Given the description of an element on the screen output the (x, y) to click on. 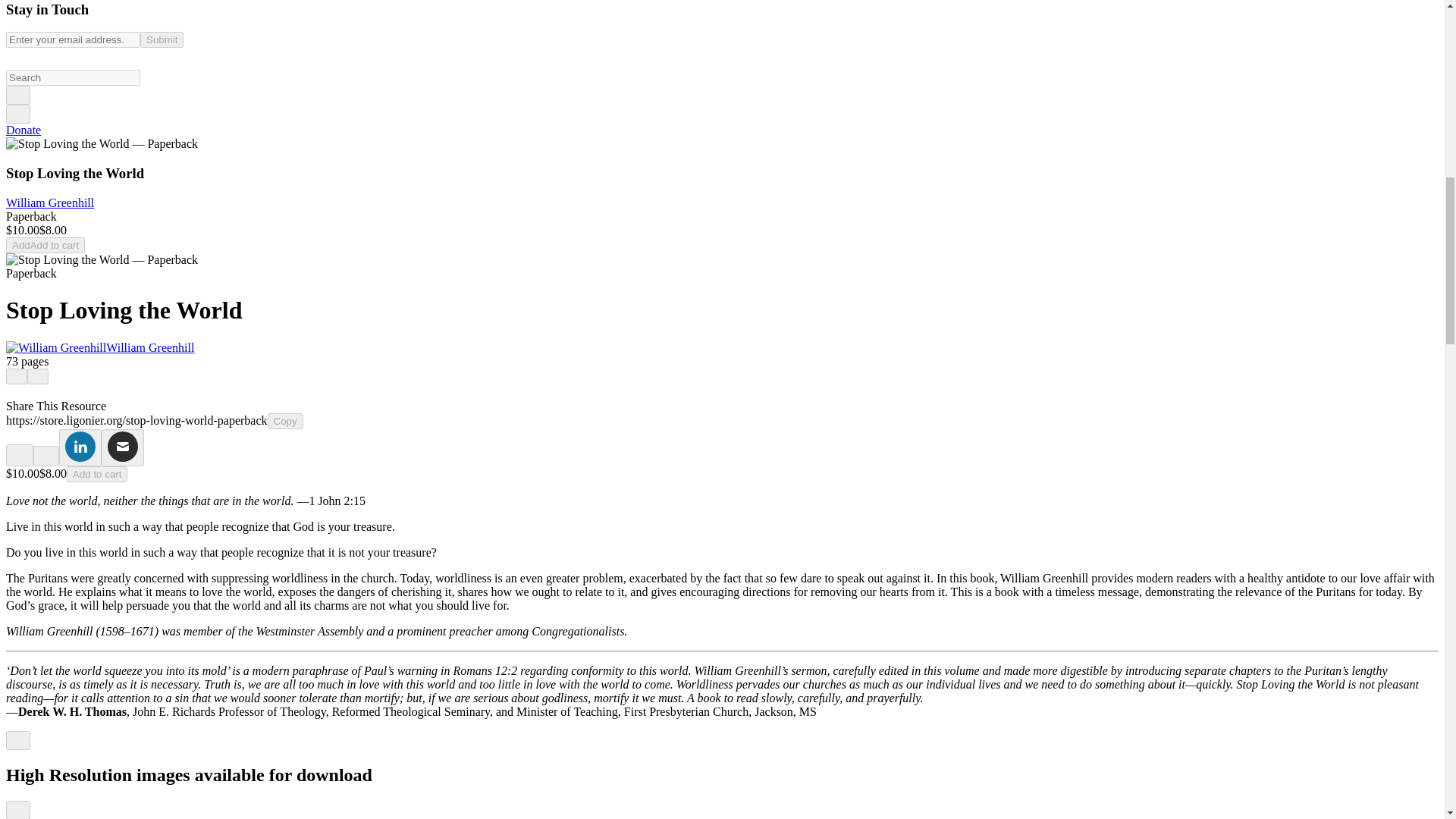
Email (122, 447)
Twitter (46, 455)
Linkedin (80, 447)
William Greenhill (55, 347)
Facebook (19, 455)
